Given the description of an element on the screen output the (x, y) to click on. 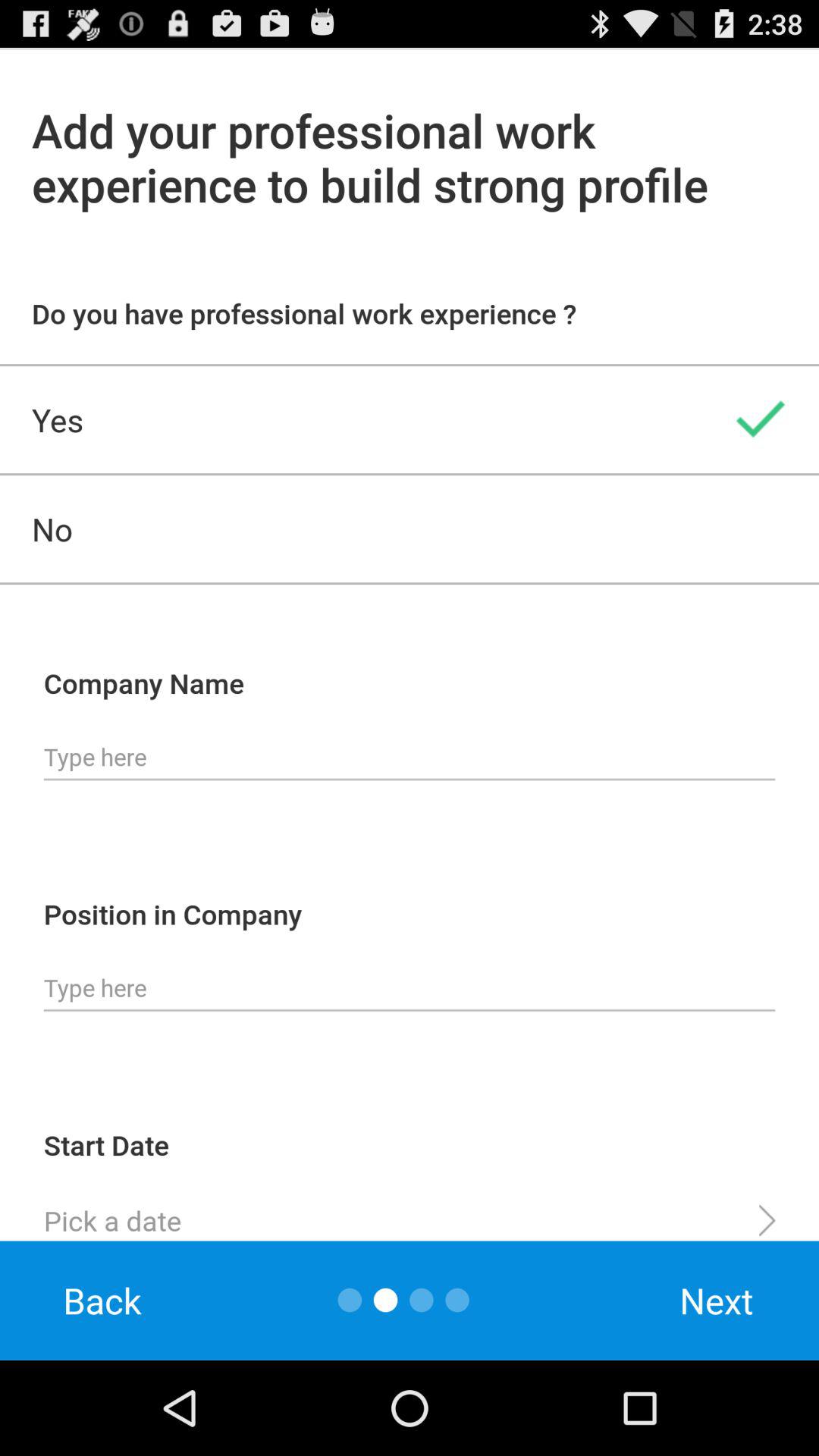
choose icon at the bottom right corner (716, 1300)
